Given the description of an element on the screen output the (x, y) to click on. 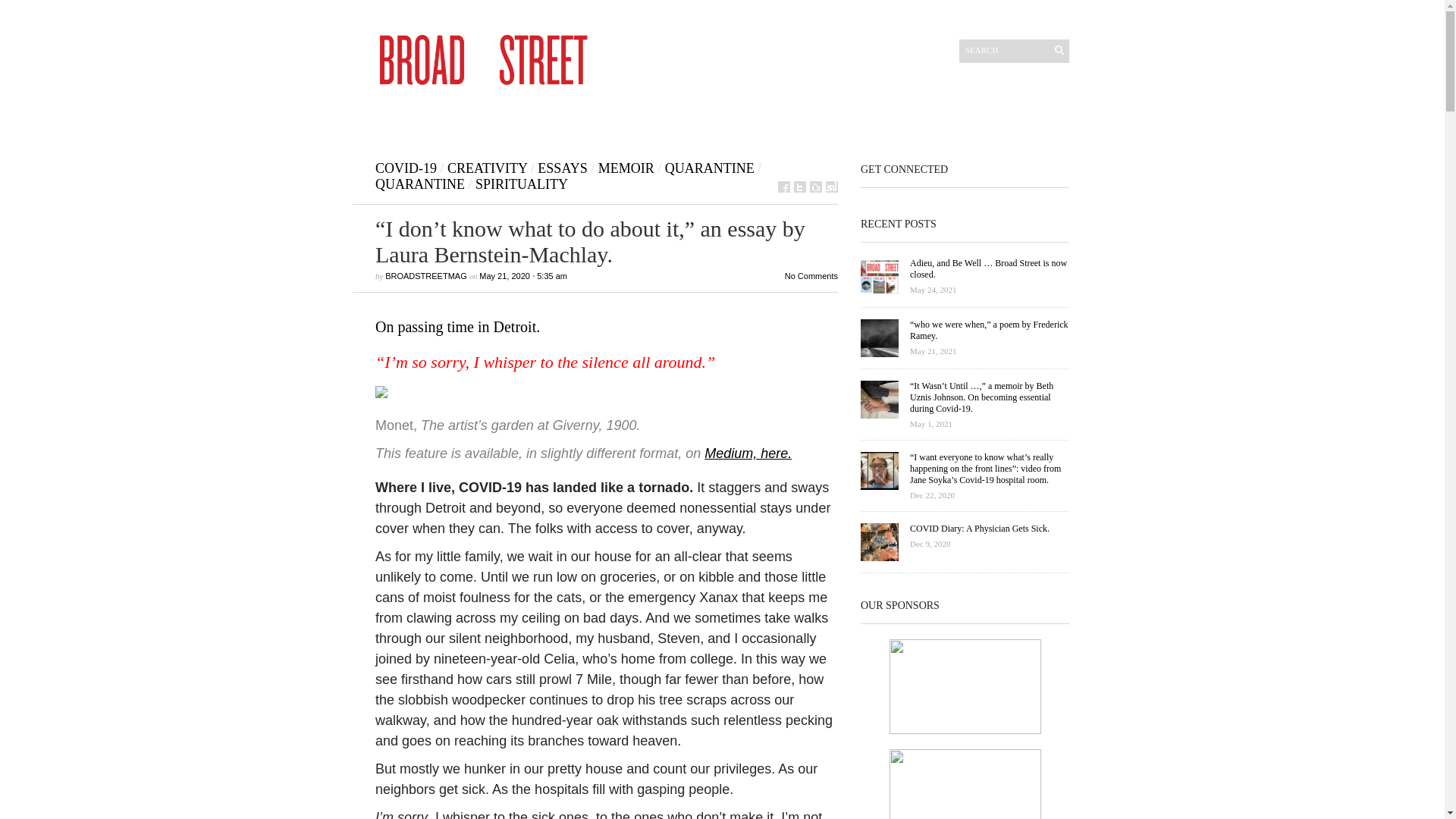
SPIRITUALITY (521, 183)
Spread the word on Twitter (799, 186)
QUARANTINE (419, 183)
Medium, here. (748, 453)
Bookmark on Del.icio.us (815, 186)
Search (1005, 49)
Share on Facebook (964, 548)
ESSAYS (783, 186)
No Comments (561, 168)
